Given the description of an element on the screen output the (x, y) to click on. 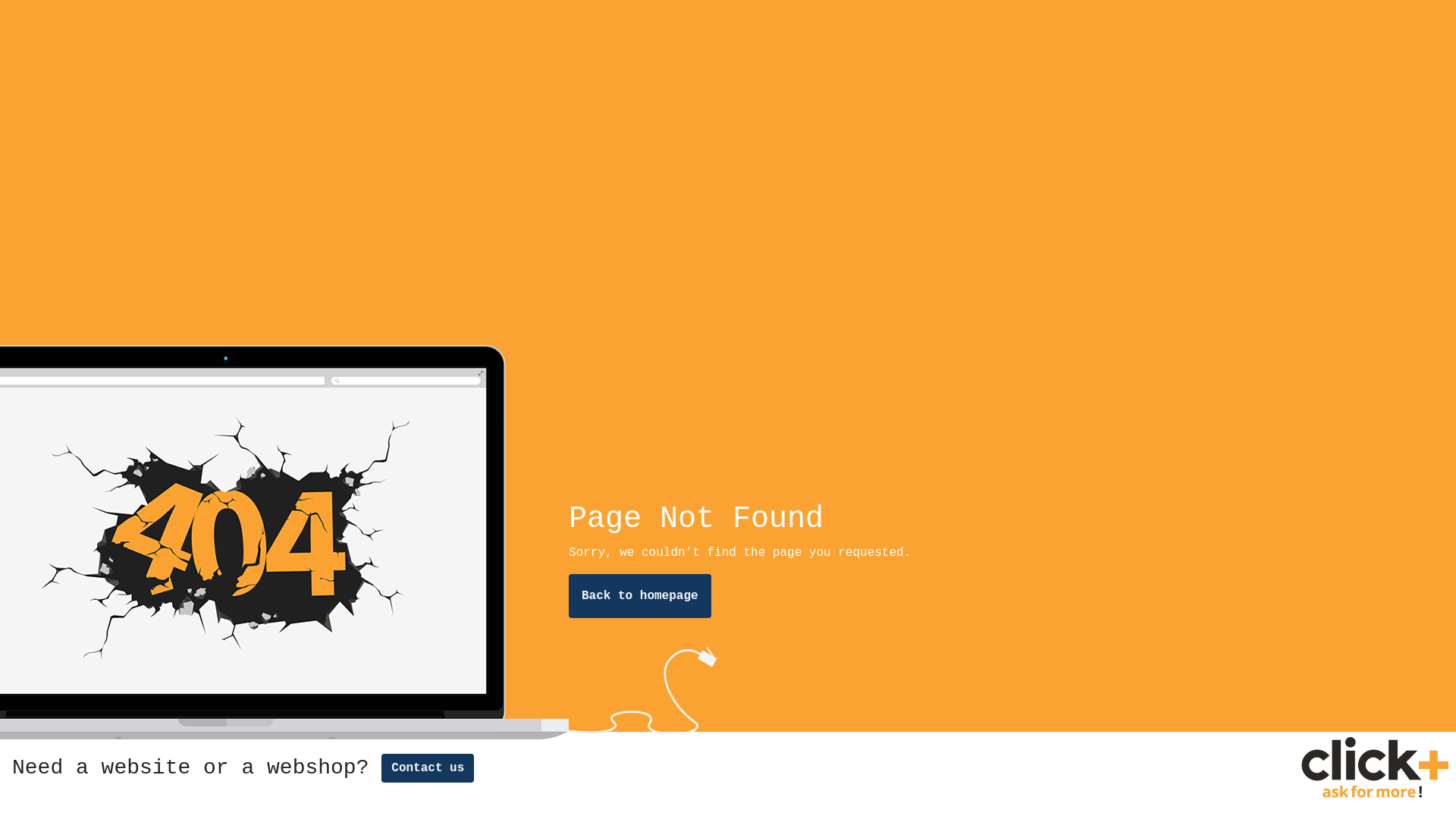
Contact us Element type: text (427, 767)
Back to homepage Element type: text (639, 596)
